Given the description of an element on the screen output the (x, y) to click on. 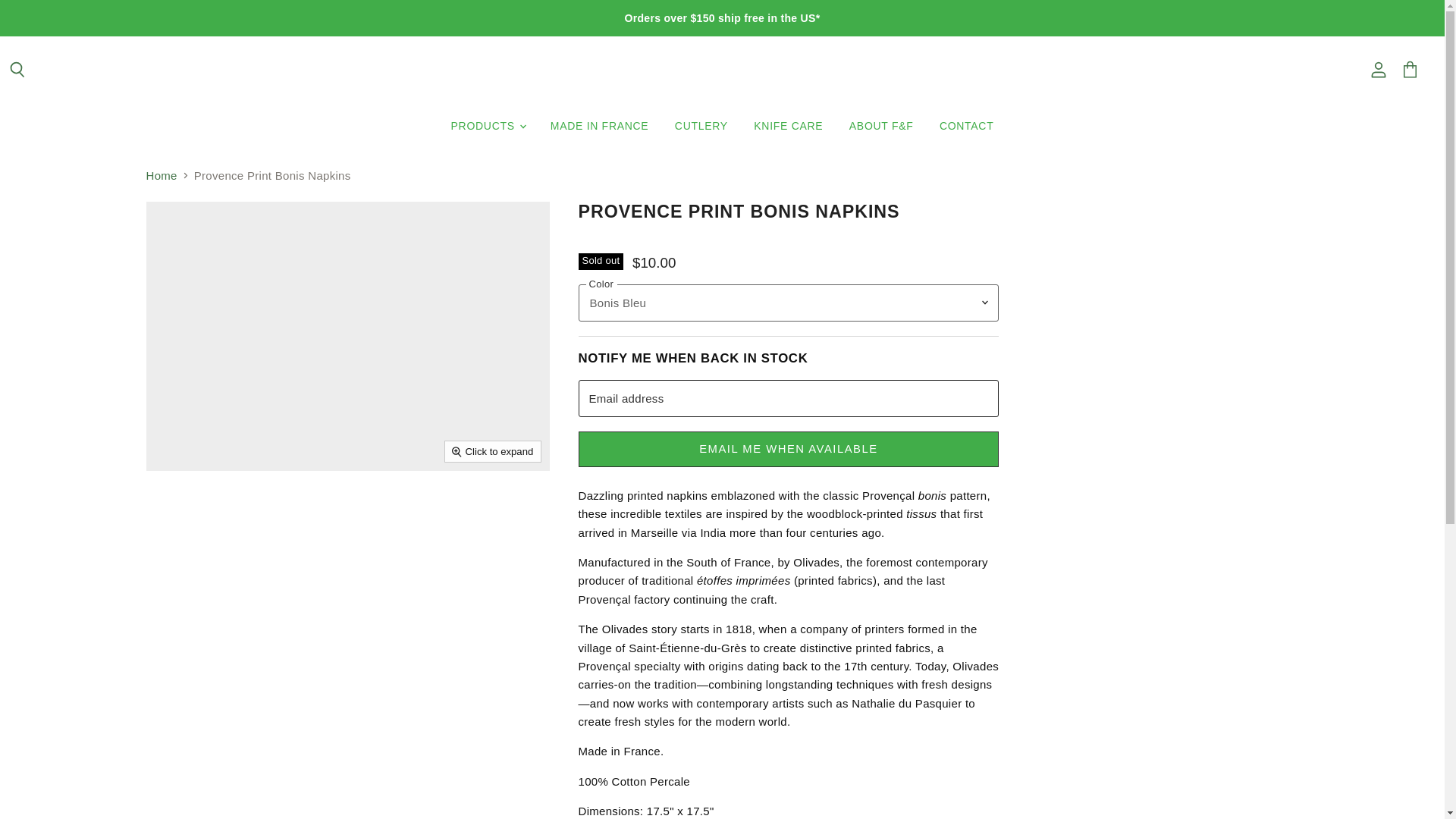
View account (1377, 70)
MADE IN FRANCE (599, 125)
PRODUCTS (487, 125)
Search (17, 70)
CUTLERY (701, 125)
CONTACT (967, 125)
KNIFE CARE (788, 125)
View cart (1409, 70)
